Given the description of an element on the screen output the (x, y) to click on. 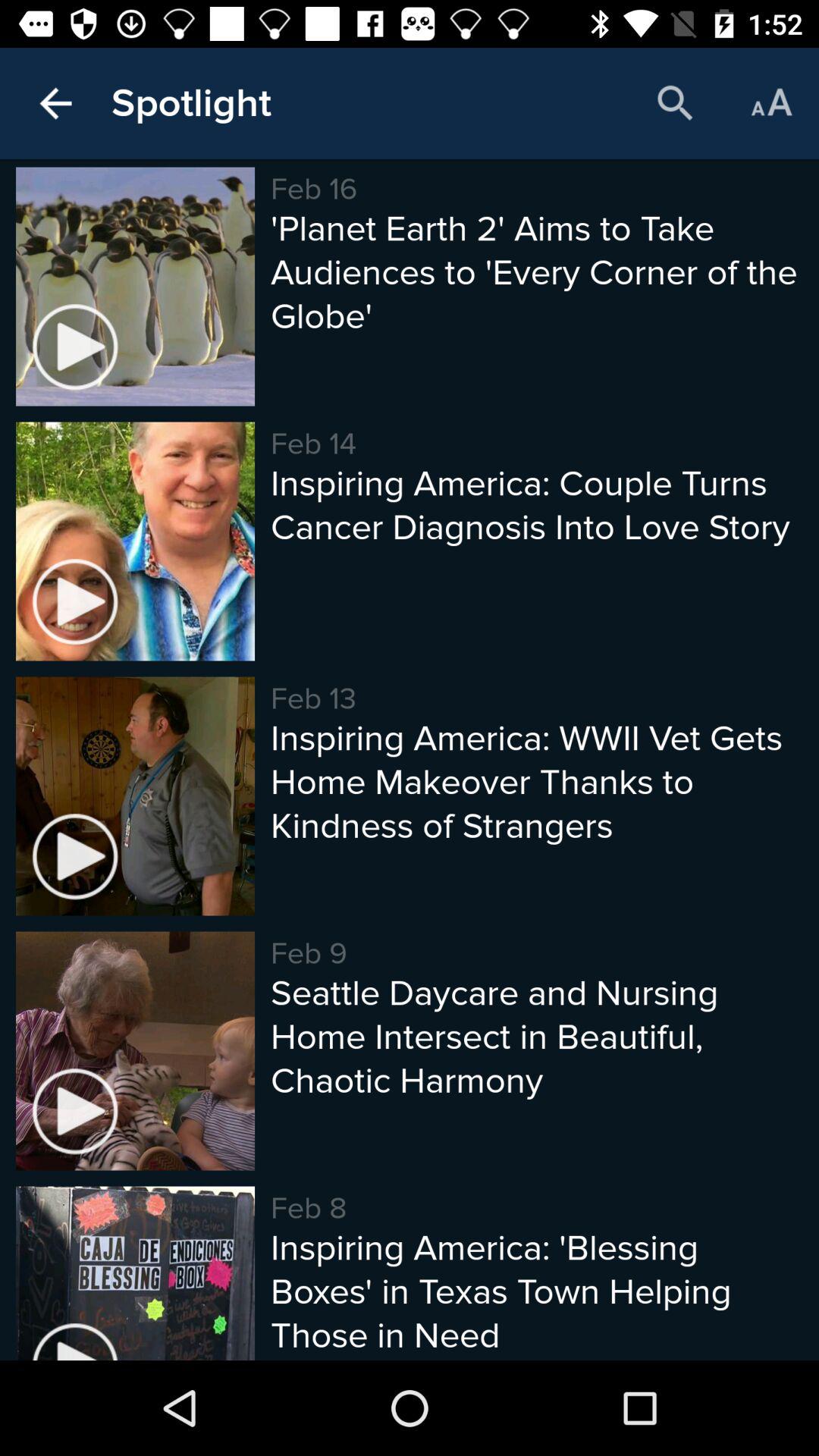
turn off the icon next to the spotlight item (55, 103)
